Given the description of an element on the screen output the (x, y) to click on. 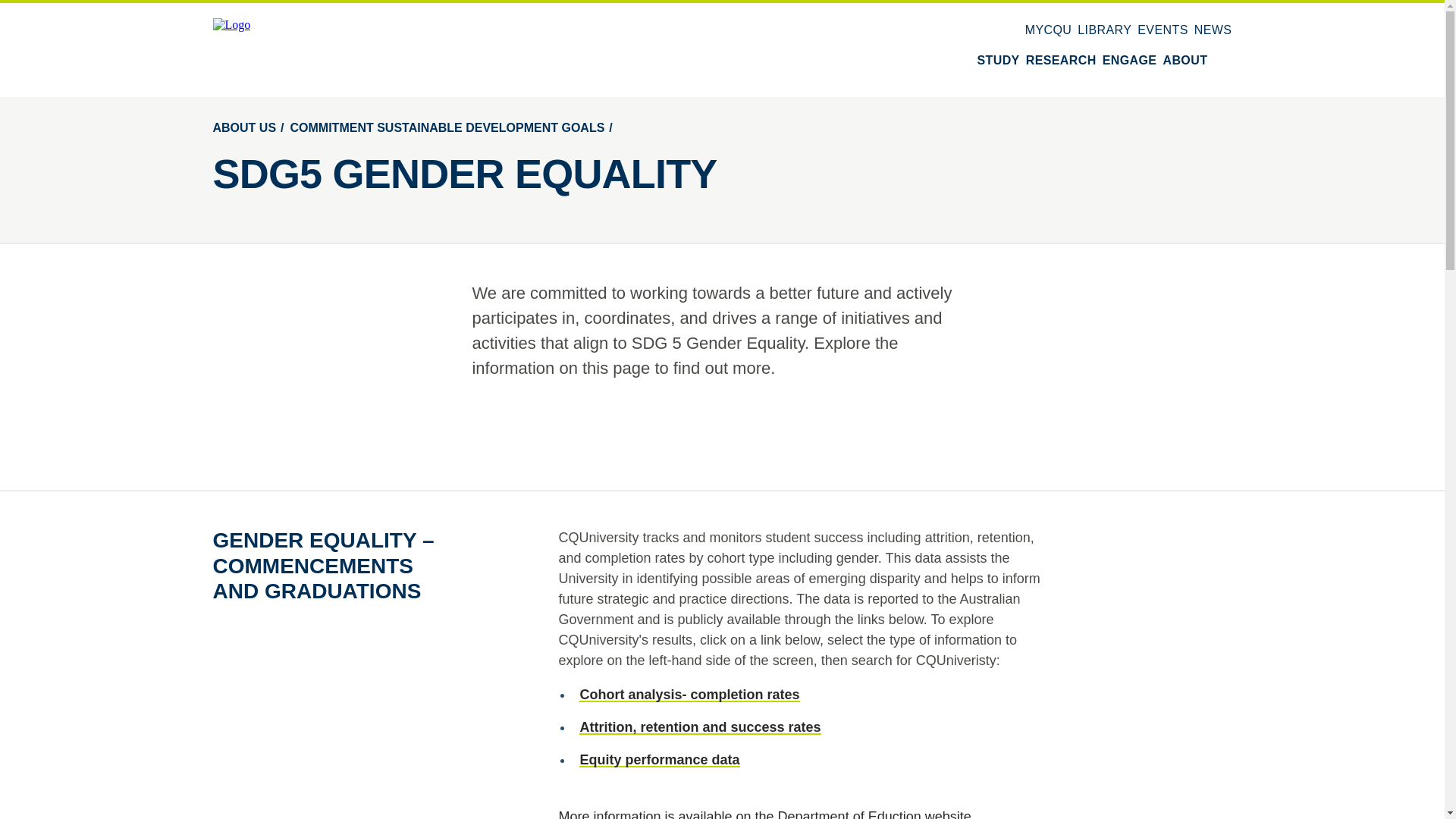
MYCQU (1048, 29)
LIBRARY (1104, 29)
RESEARCH (1061, 60)
EVENTS (1162, 29)
STUDY (997, 60)
NEWS (1212, 29)
